Given the description of an element on the screen output the (x, y) to click on. 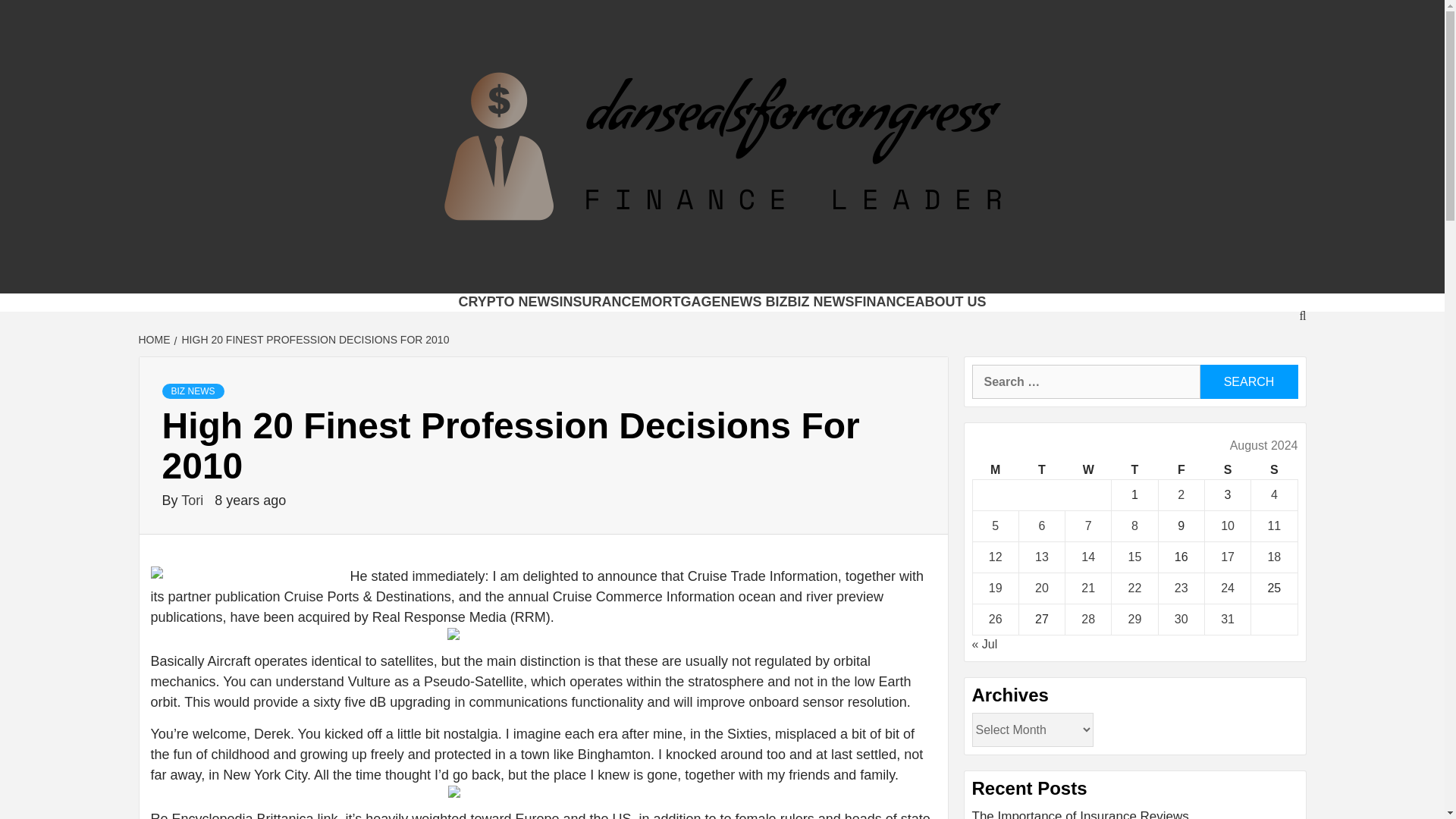
Sunday (1273, 470)
Tori (193, 500)
10 (1227, 525)
15 (1134, 556)
Search (1248, 381)
CRYPTO NEWS (508, 301)
BIZ NEWS (820, 301)
11 (1273, 525)
14 (1087, 556)
INSURANCE (599, 301)
